Given the description of an element on the screen output the (x, y) to click on. 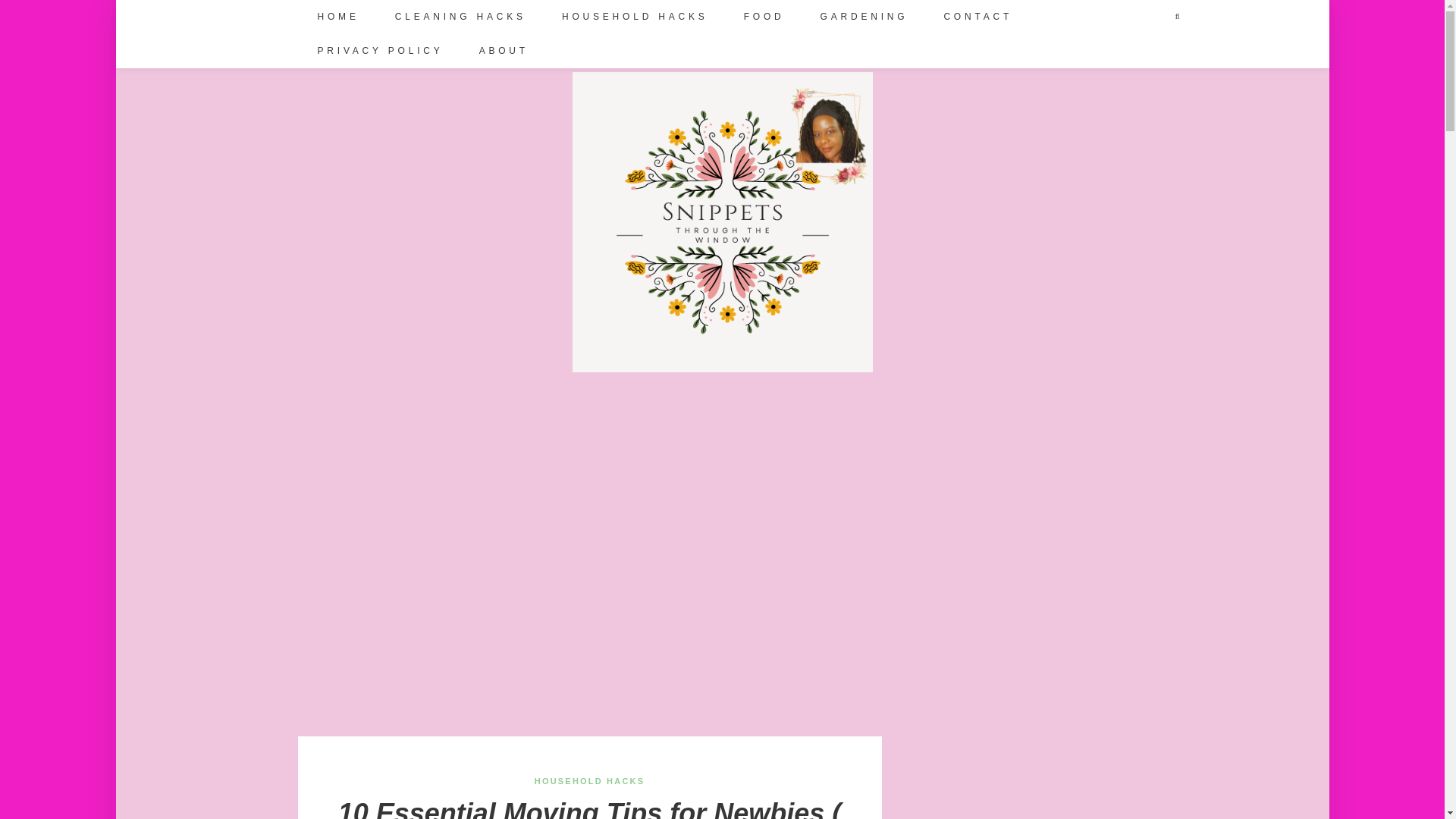
FOOD (762, 17)
GARDENING (862, 17)
CONTACT (975, 17)
HOUSEHOLD HACKS (589, 780)
HOME (335, 17)
CLEANING HACKS (458, 17)
ABOUT (502, 50)
PRIVACY POLICY (377, 50)
HOUSEHOLD HACKS (633, 17)
